Given the description of an element on the screen output the (x, y) to click on. 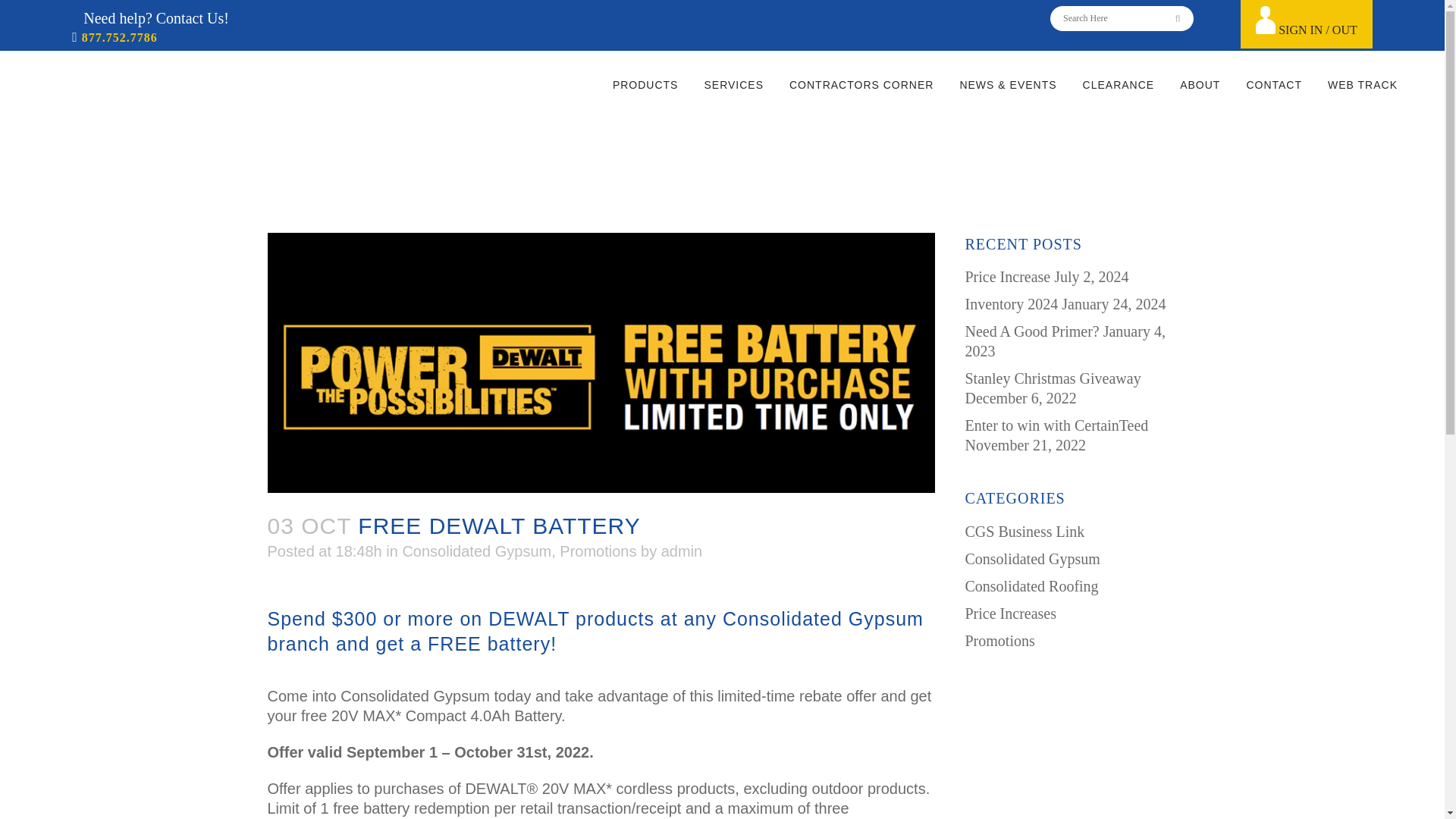
Promotions (597, 550)
Need A Good Primer? (1031, 330)
SERVICES (733, 84)
CONTACT (1273, 84)
Consolidated Gypsum (476, 550)
PRODUCTS (645, 84)
admin (681, 550)
ABOUT (1200, 84)
877.752.7786 (117, 37)
Price Increase (1006, 276)
Stanley Christmas Giveaway (1051, 378)
Inventory 2024 (1010, 303)
CONTRACTORS CORNER (861, 84)
CLEARANCE (1118, 84)
WEB TRACK (1362, 84)
